Given the description of an element on the screen output the (x, y) to click on. 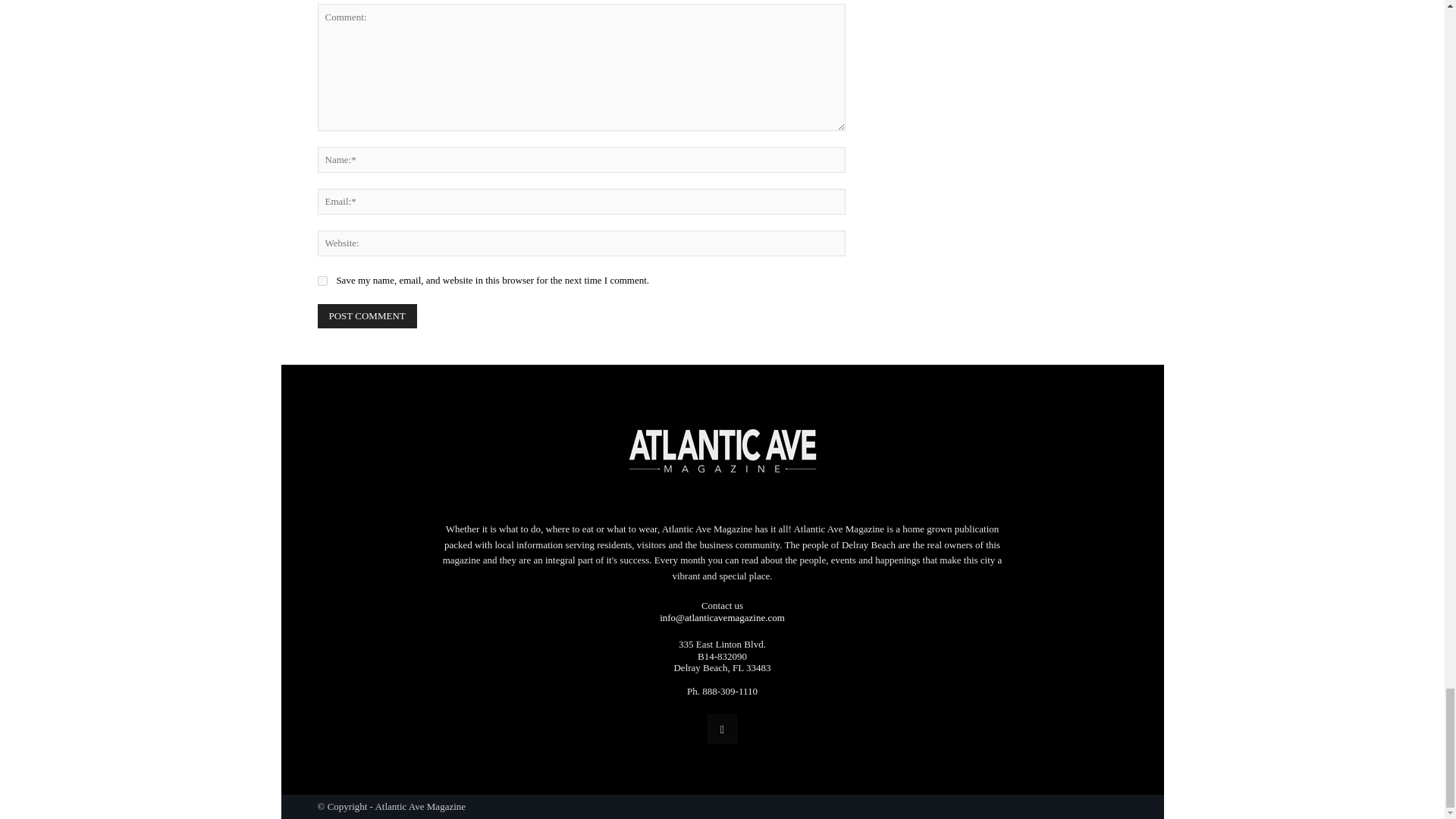
Post Comment (366, 315)
yes (321, 280)
